Given the description of an element on the screen output the (x, y) to click on. 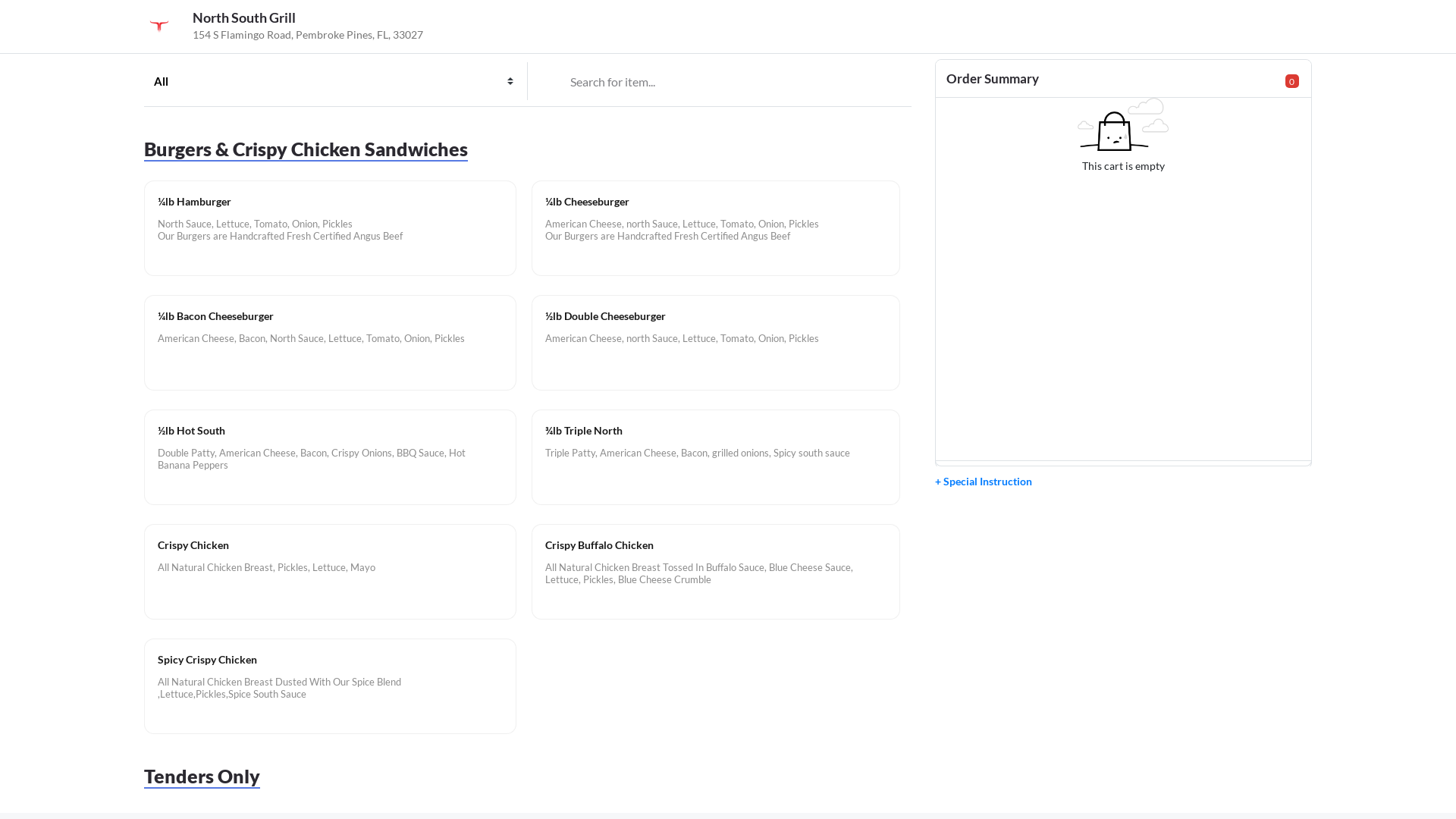
Crispy Chicken Element type: text (329, 544)
+ Special Instruction Element type: text (983, 481)
Spicy Crispy Chicken Element type: text (329, 659)
North South Grill Element type: text (243, 17)
Crispy Buffalo Chicken Element type: text (715, 544)
